Given the description of an element on the screen output the (x, y) to click on. 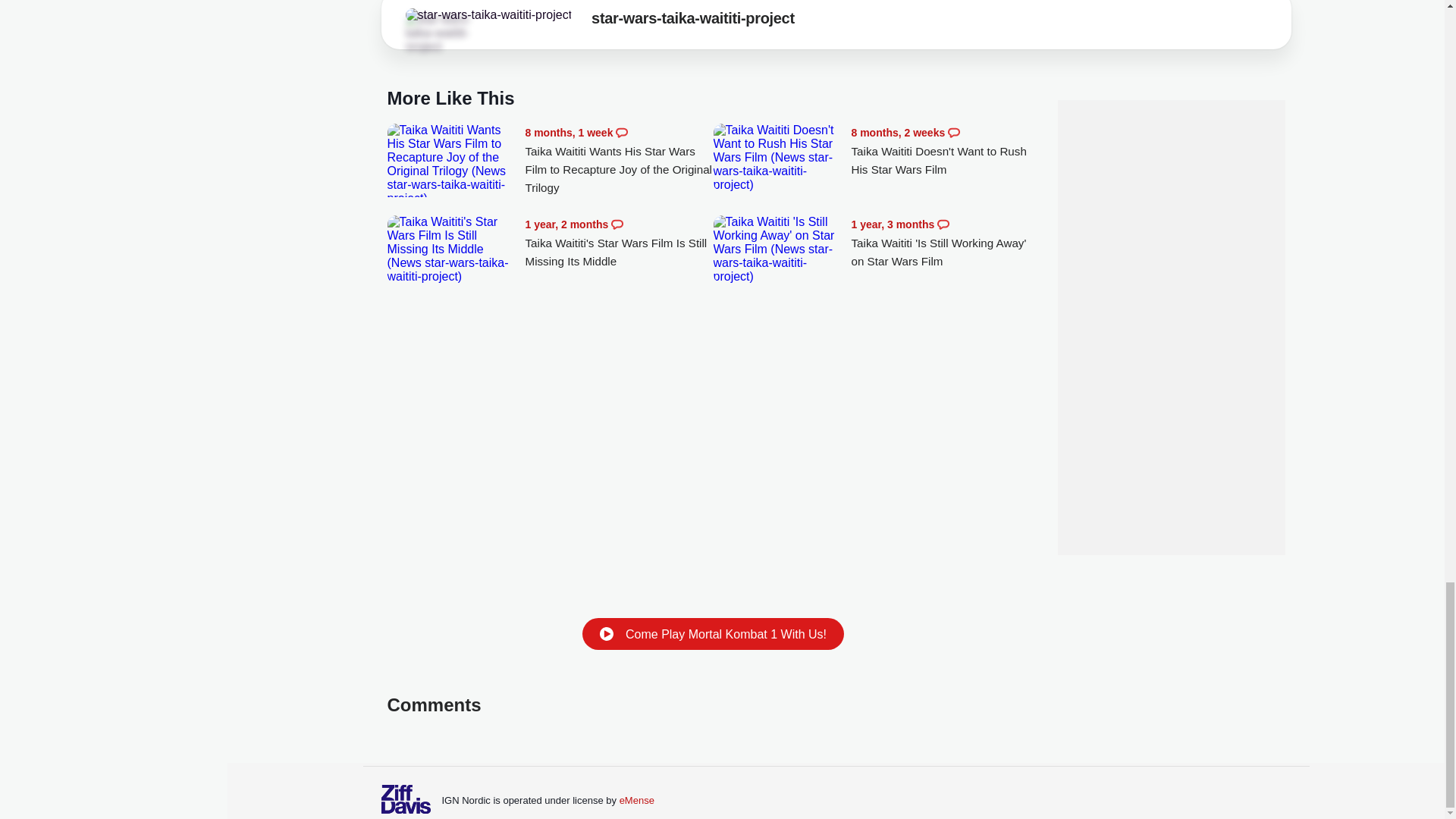
star-wars-taika-waititi-project (448, 33)
Taika Waititi 'Is Still Working Away' on Star Wars Film (944, 243)
Taika Waititi's Star Wars Film Is Still Missing Its Middle (618, 243)
Comments (621, 132)
Comments (943, 224)
Taika Waititi Doesn't Want to Rush His Star Wars Film (778, 157)
Taika Waititi 'Is Still Working Away' on Star Wars Film (778, 249)
Comments (617, 224)
Comments (953, 132)
Taika Waititi's Star Wars Film Is Still Missing Its Middle (451, 249)
Taika Waititi Doesn't Want to Rush His Star Wars Film (944, 151)
star-wars-taika-waititi-project (692, 20)
star-wars-taika-waititi-project (488, 15)
